Given the description of an element on the screen output the (x, y) to click on. 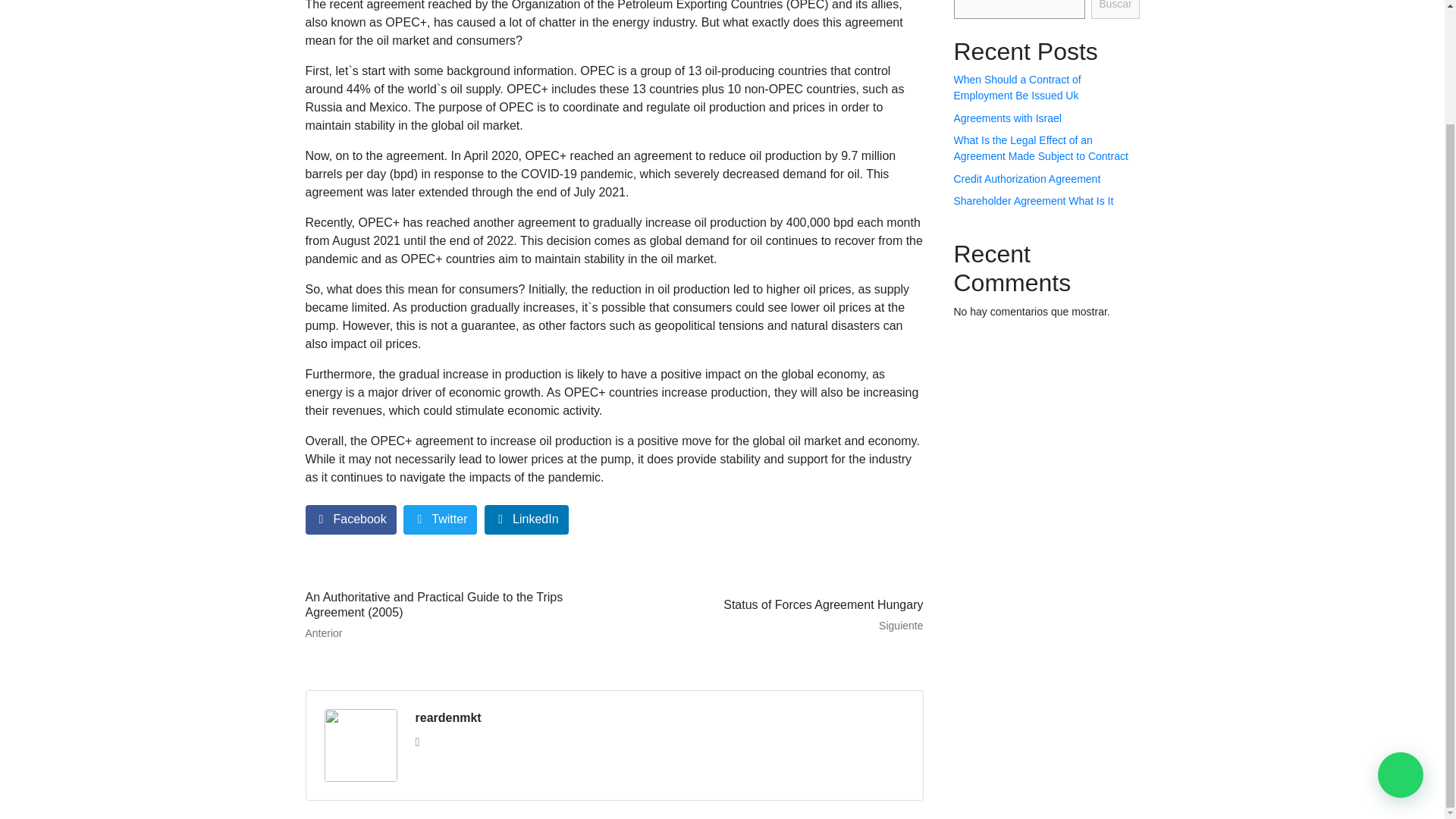
Agreements with Israel (1007, 118)
reardenmkt (774, 614)
Facebook (447, 718)
Shareholder Agreement What Is It (350, 519)
Status of Forces Agreement Hungary (1033, 200)
Credit Authorization Agreement (774, 614)
When Should a Contract of Employment Be Issued Uk (1026, 178)
Buscar (1017, 87)
Twitter (1114, 9)
